Given the description of an element on the screen output the (x, y) to click on. 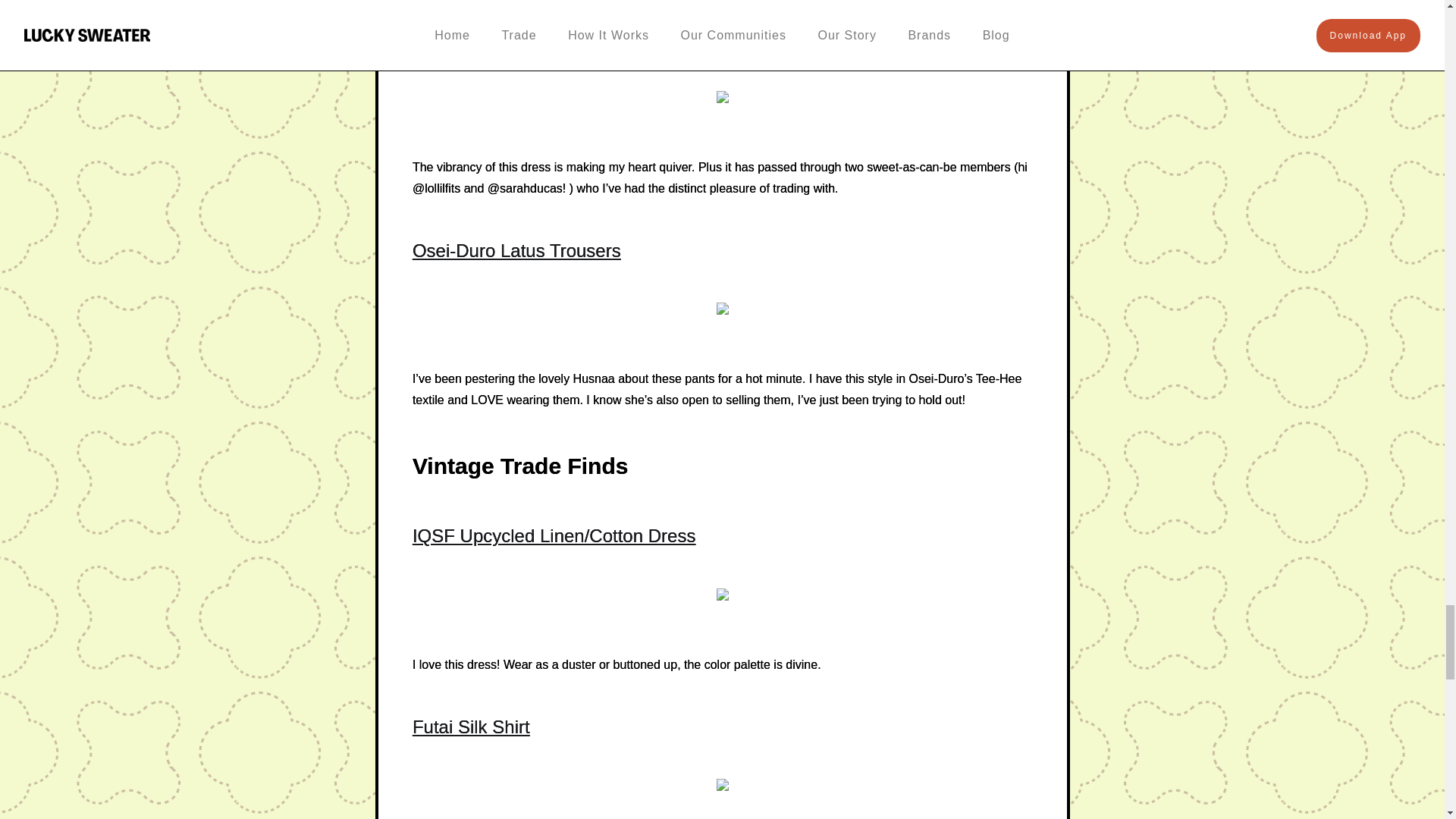
Futai Silk Shirt (470, 726)
Little Tienda Ottie Disco Dress (535, 38)
Osei-Duro Latus Trousers (516, 250)
